Given the description of an element on the screen output the (x, y) to click on. 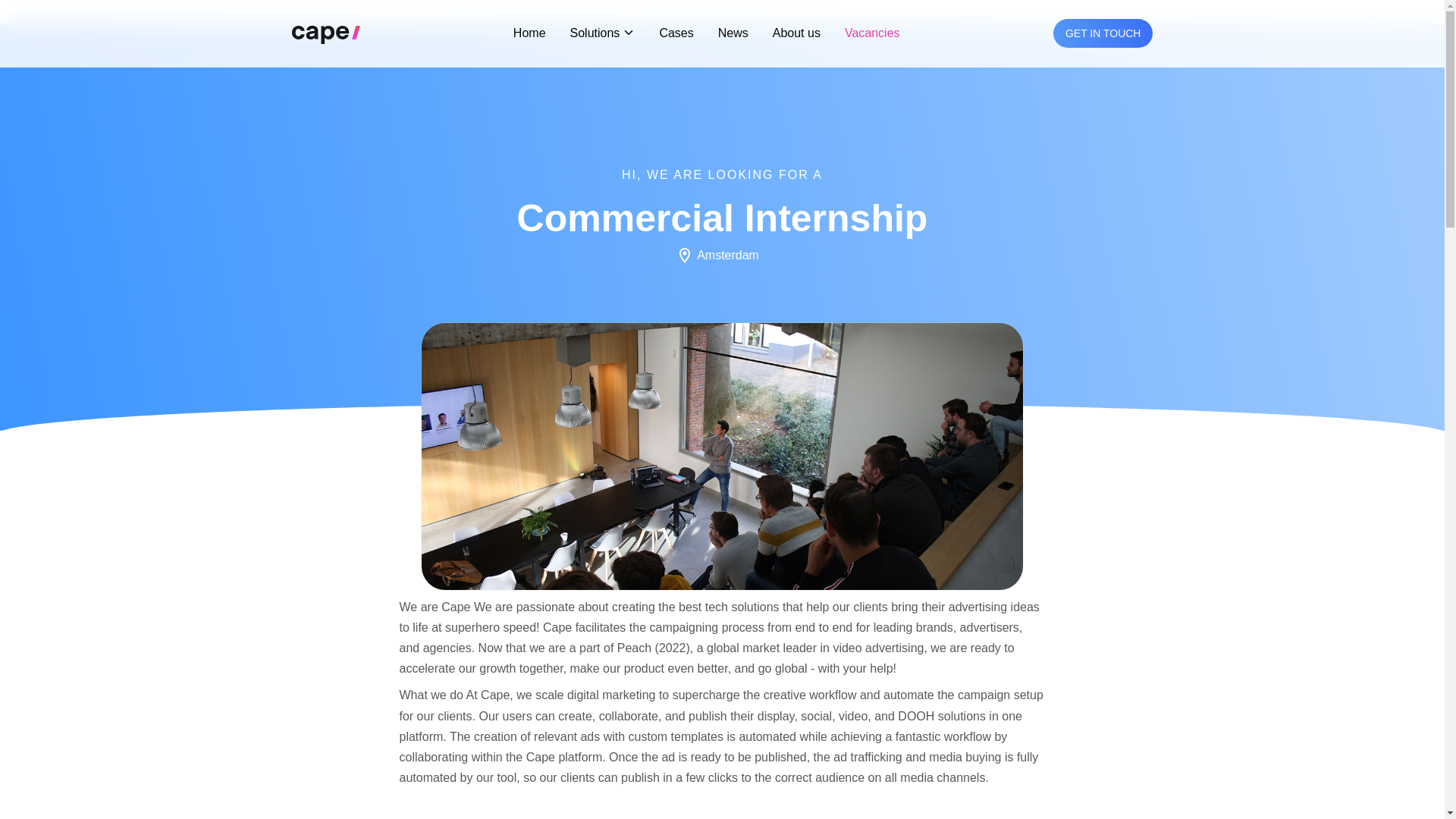
Home (529, 32)
GET IN TOUCH (1102, 32)
Vacancies (871, 32)
About us (797, 32)
News (732, 32)
Cases (676, 32)
